Given the description of an element on the screen output the (x, y) to click on. 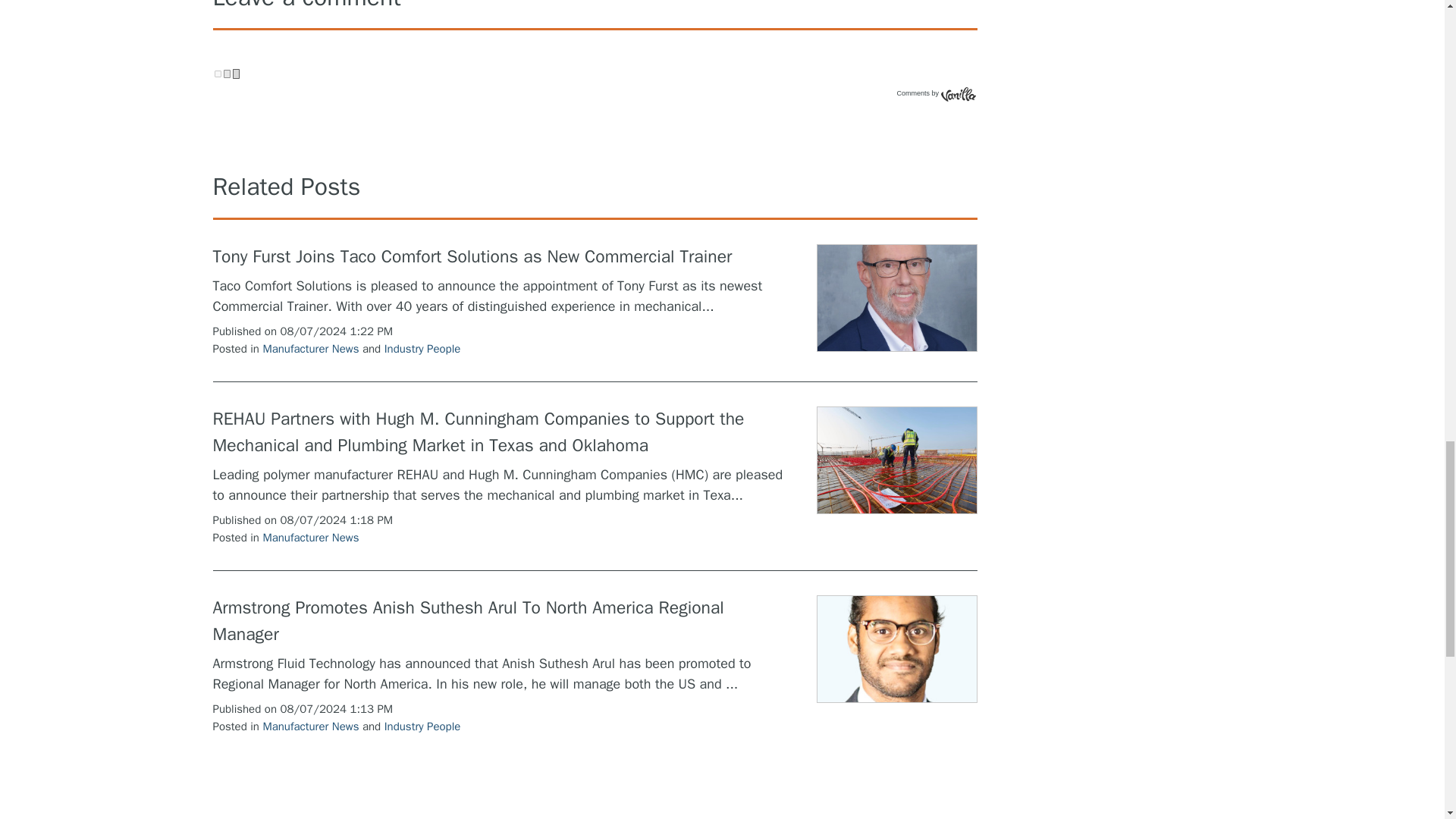
Manufacturer News (310, 537)
Industry People (422, 726)
Manufacturer News (310, 726)
Industry People (422, 348)
Manufacturer News (310, 348)
